Given the description of an element on the screen output the (x, y) to click on. 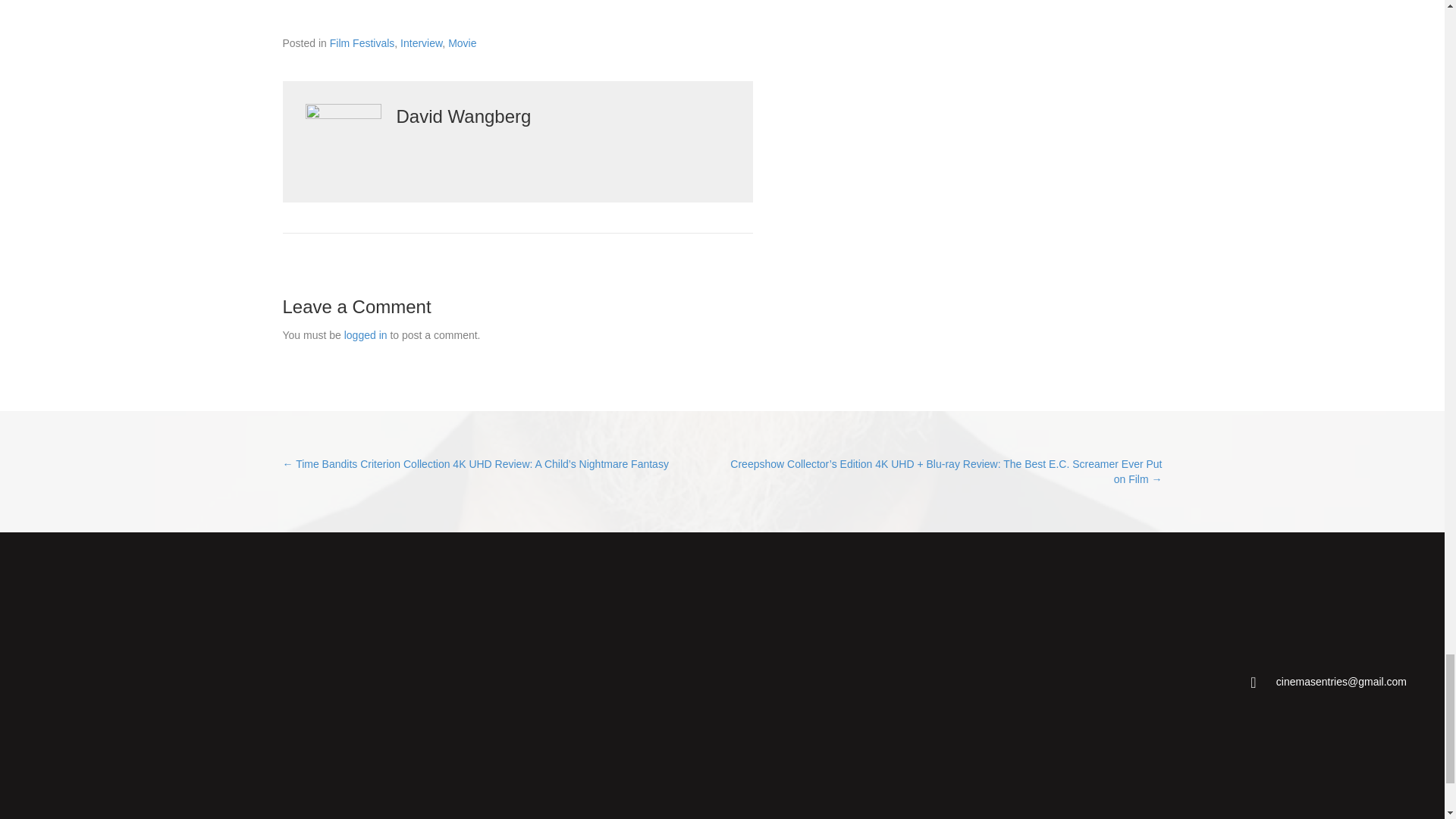
Cinema Sentries (148, 681)
Film Festivals (362, 42)
Movie (462, 42)
logged in (365, 335)
Interview (421, 42)
